Given the description of an element on the screen output the (x, y) to click on. 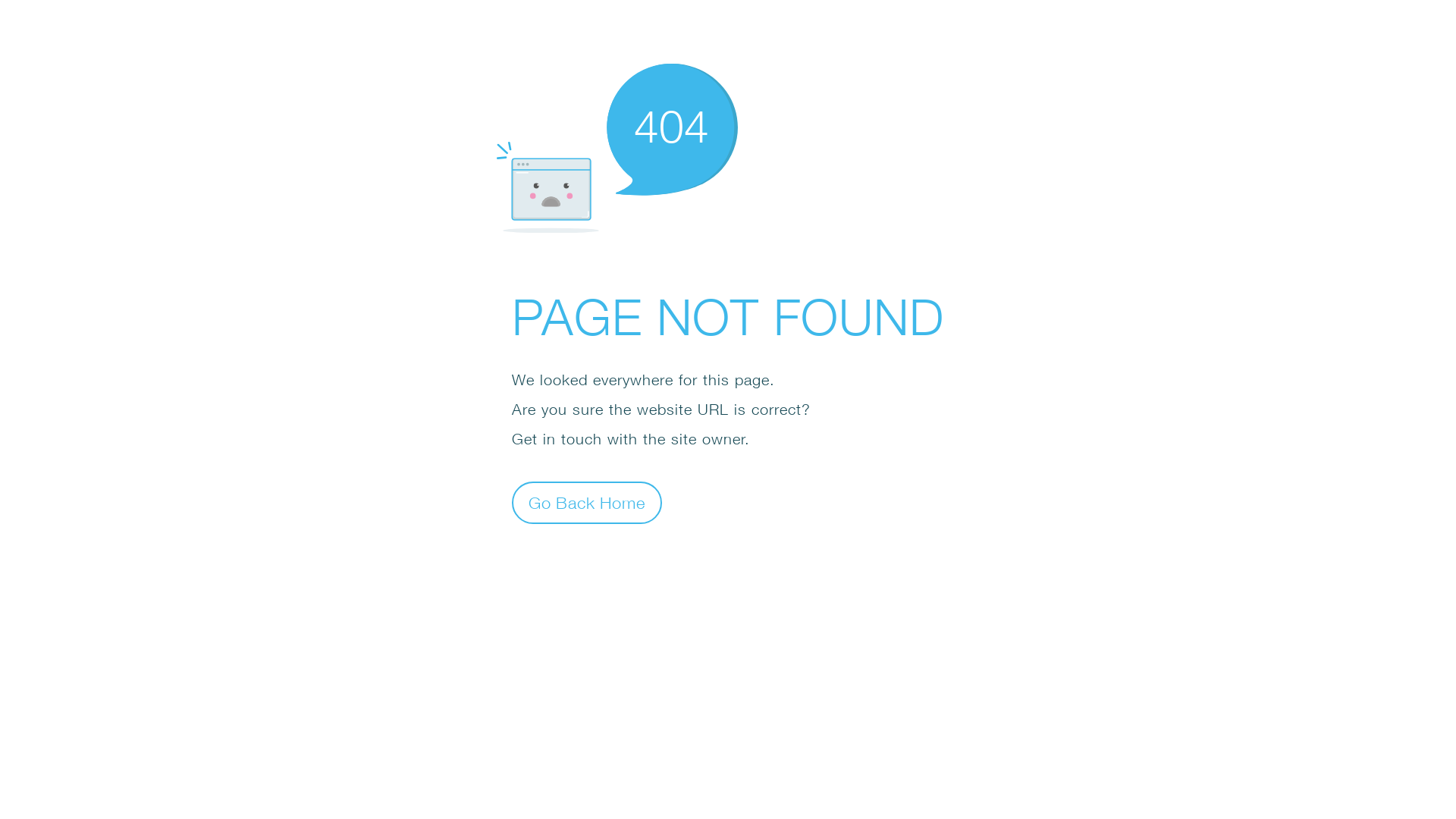
Go Back Home Element type: text (586, 502)
